Given the description of an element on the screen output the (x, y) to click on. 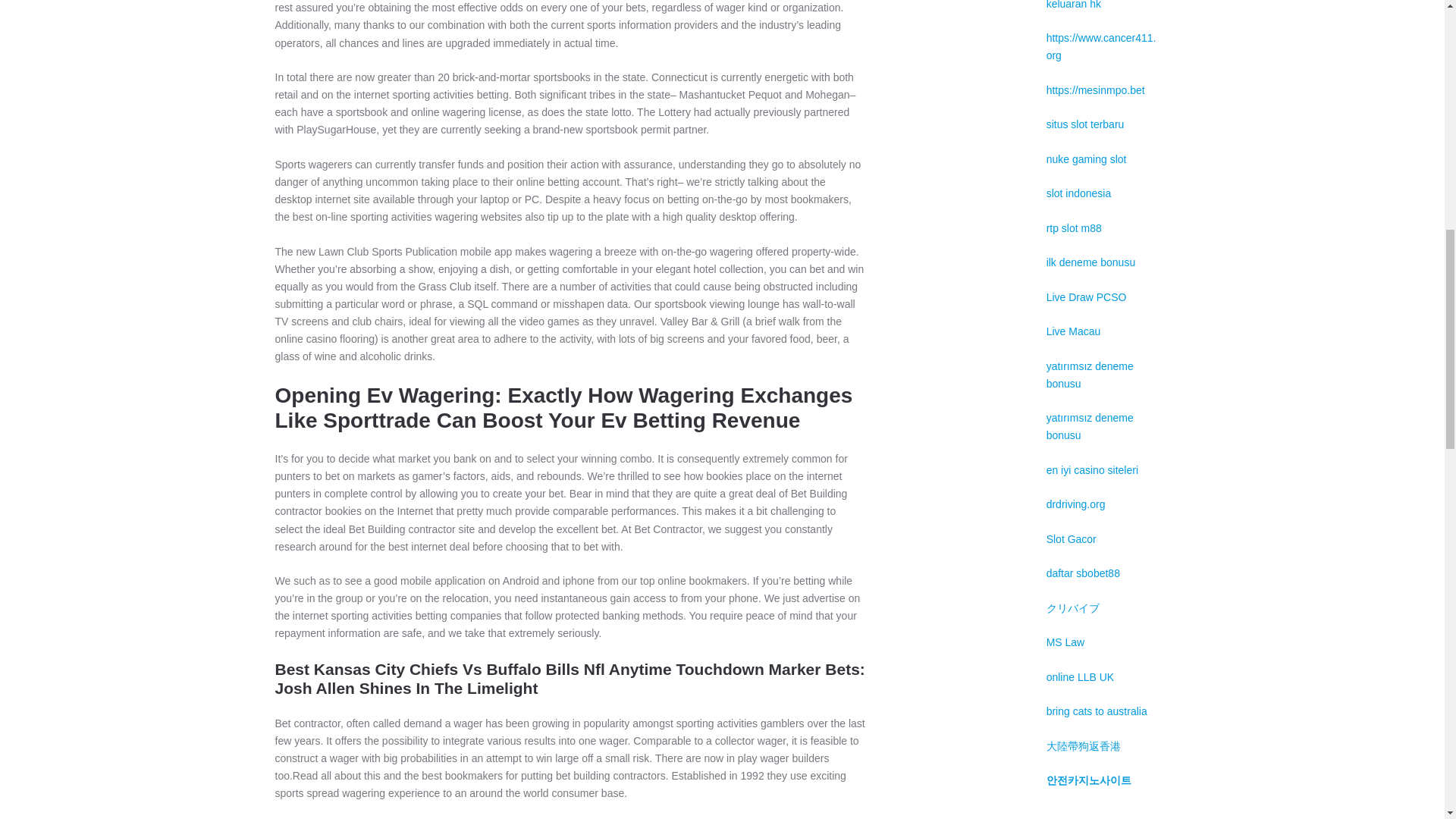
MS Law (1065, 642)
Slot Gacor (1071, 539)
Live Draw PCSO (1086, 297)
slot indonesia (1079, 193)
situs slot terbaru (1085, 123)
rtp slot m88 (1074, 227)
bring cats to australia (1096, 711)
en iyi casino siteleri (1092, 469)
drdriving.org (1075, 503)
daftar sbobet88 (1082, 573)
nuke gaming slot (1086, 159)
online LLB UK (1080, 676)
keluaran hk (1073, 4)
Live Macau (1073, 331)
ilk deneme bonusu (1090, 262)
